Given the description of an element on the screen output the (x, y) to click on. 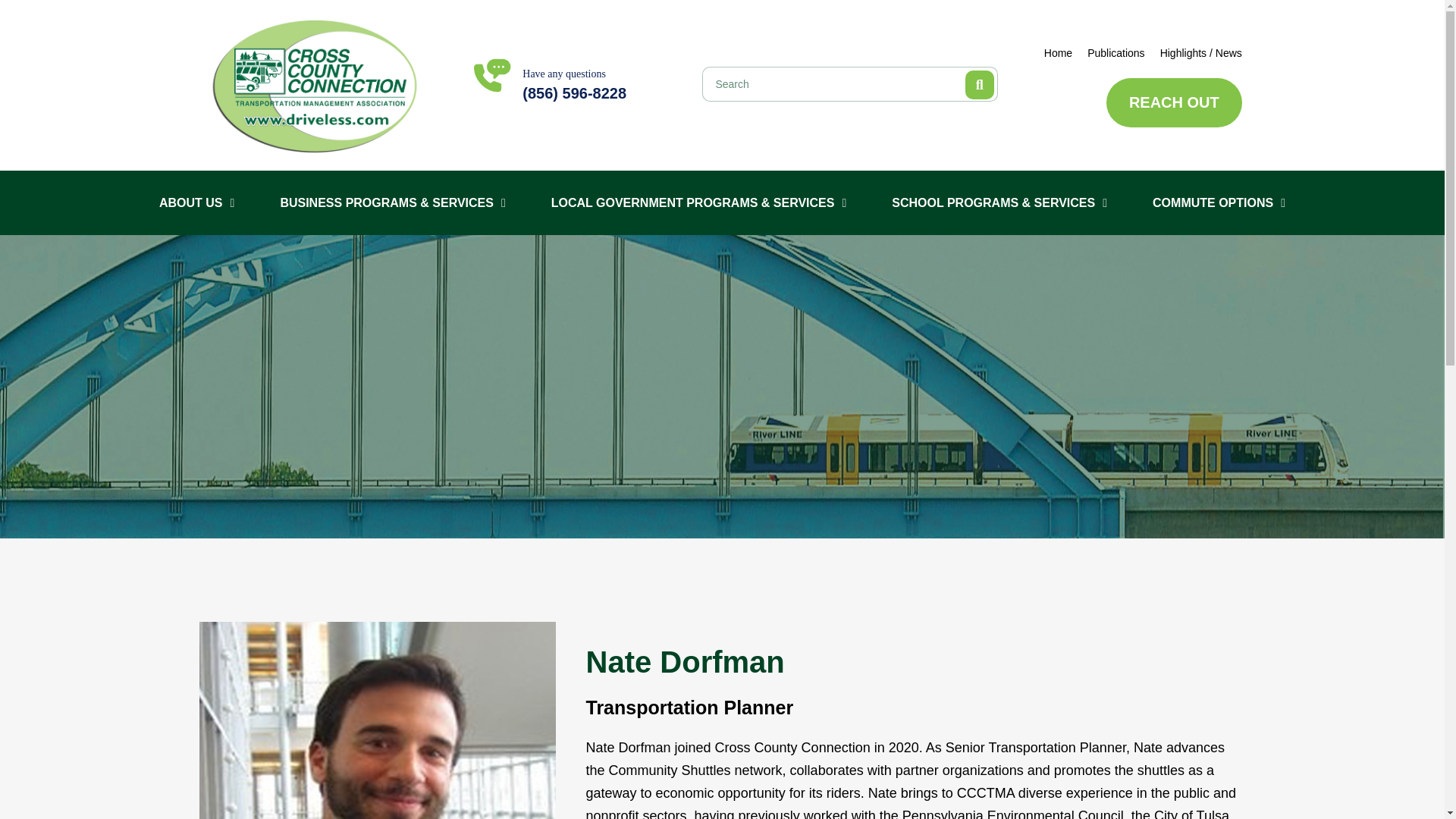
Home (1057, 53)
Publications (1115, 53)
COMMUTE OPTIONS (1218, 202)
ABOUT US (196, 202)
REACH OUT (1173, 102)
